Given the description of an element on the screen output the (x, y) to click on. 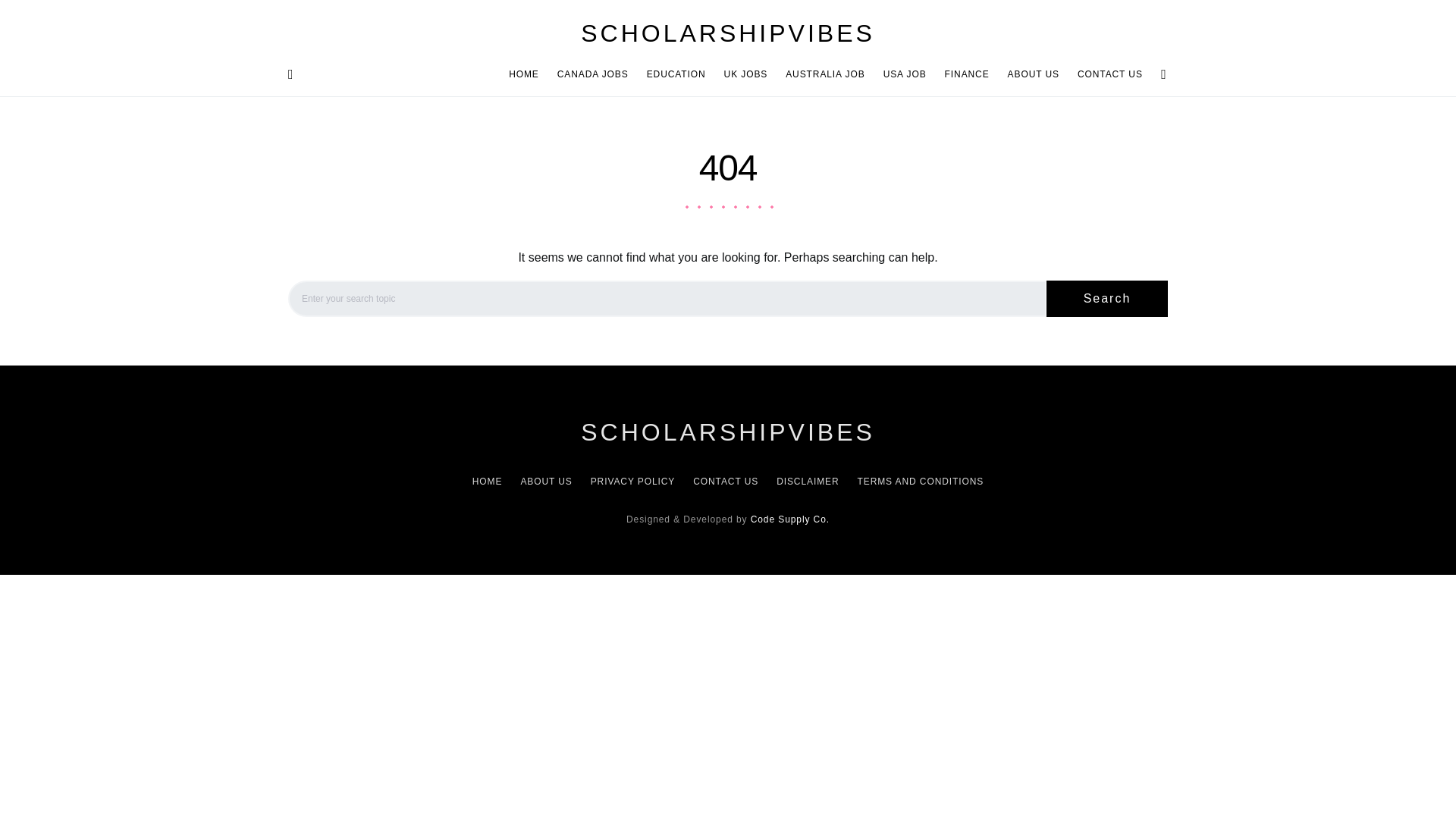
CONTACT US (1105, 74)
CANADA JOBS (592, 74)
FINANCE (967, 74)
ABOUT US (1033, 74)
AUSTRALIA JOB (824, 74)
EDUCATION (675, 74)
UK JOBS (745, 74)
USA JOB (905, 74)
SCHOLARSHIPVIBES (727, 33)
